Given the description of an element on the screen output the (x, y) to click on. 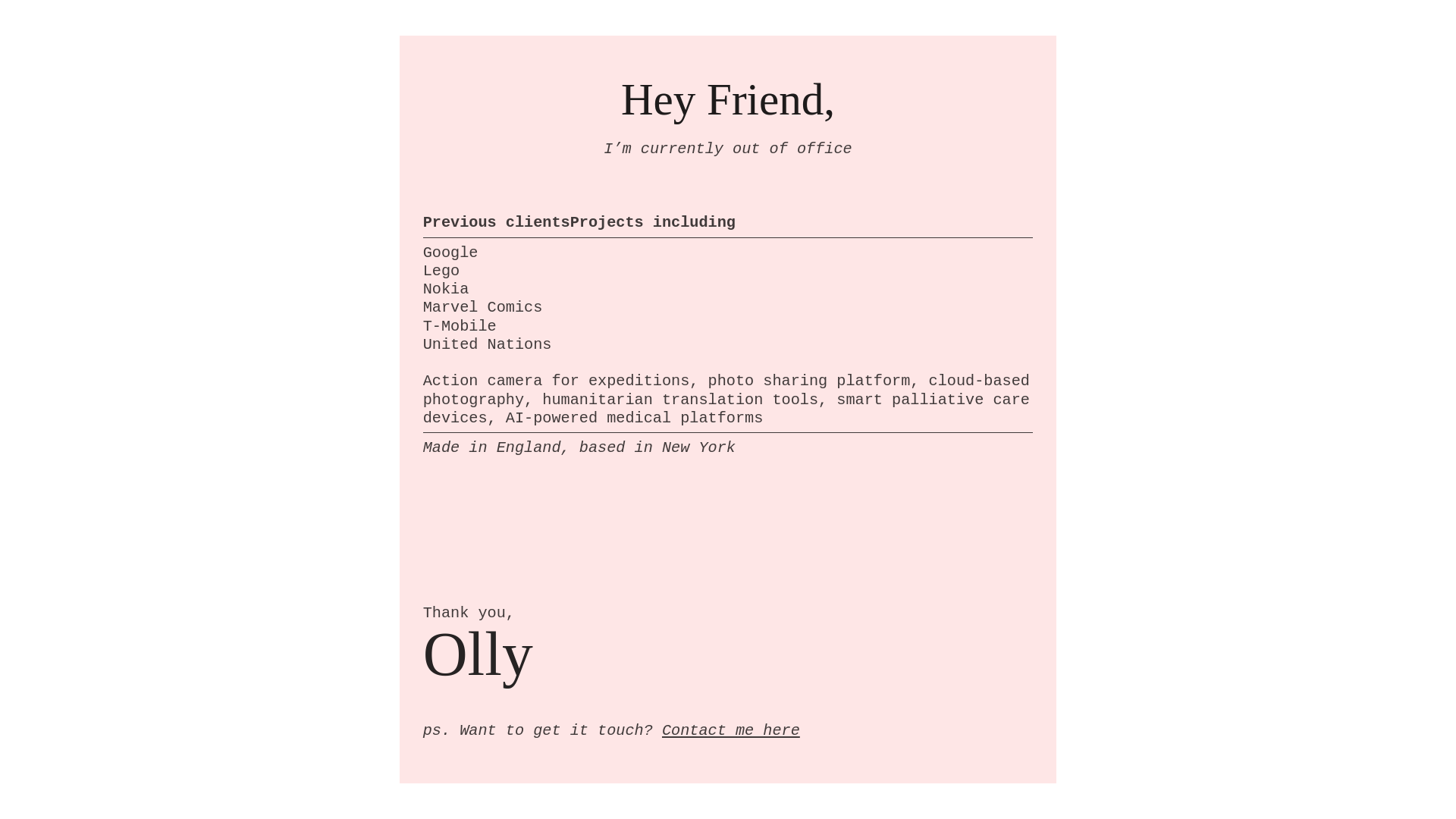
Contact me here (730, 730)
